Given the description of an element on the screen output the (x, y) to click on. 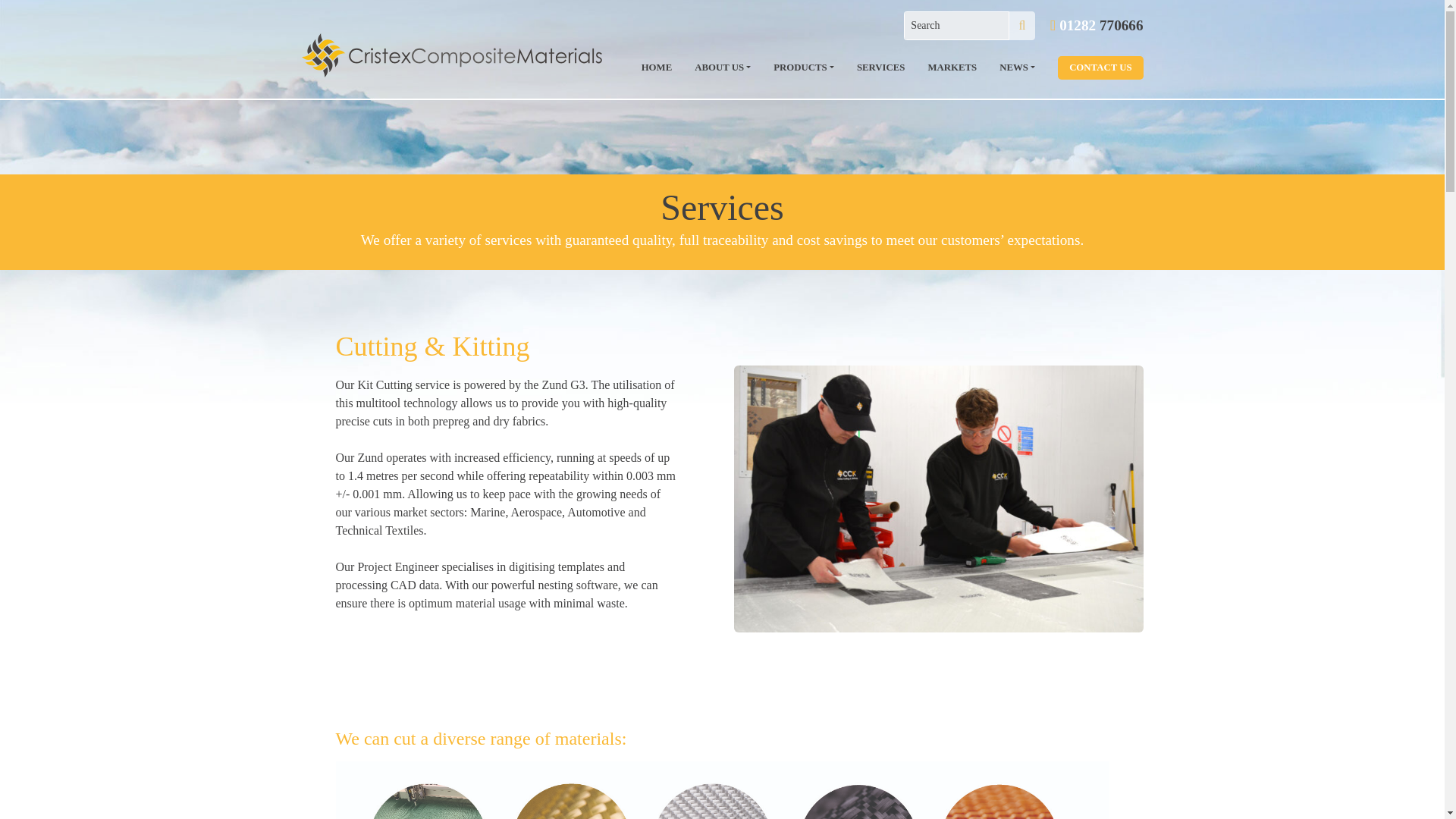
Services (881, 68)
About Us (721, 68)
ABOUT US (721, 68)
Products (803, 68)
PRODUCTS (803, 68)
Markets (951, 68)
CONTACT US (1100, 67)
Home (657, 68)
SERVICES (881, 68)
NEWS (1017, 68)
HOME (657, 68)
MARKETS (951, 68)
News (1017, 68)
